Given the description of an element on the screen output the (x, y) to click on. 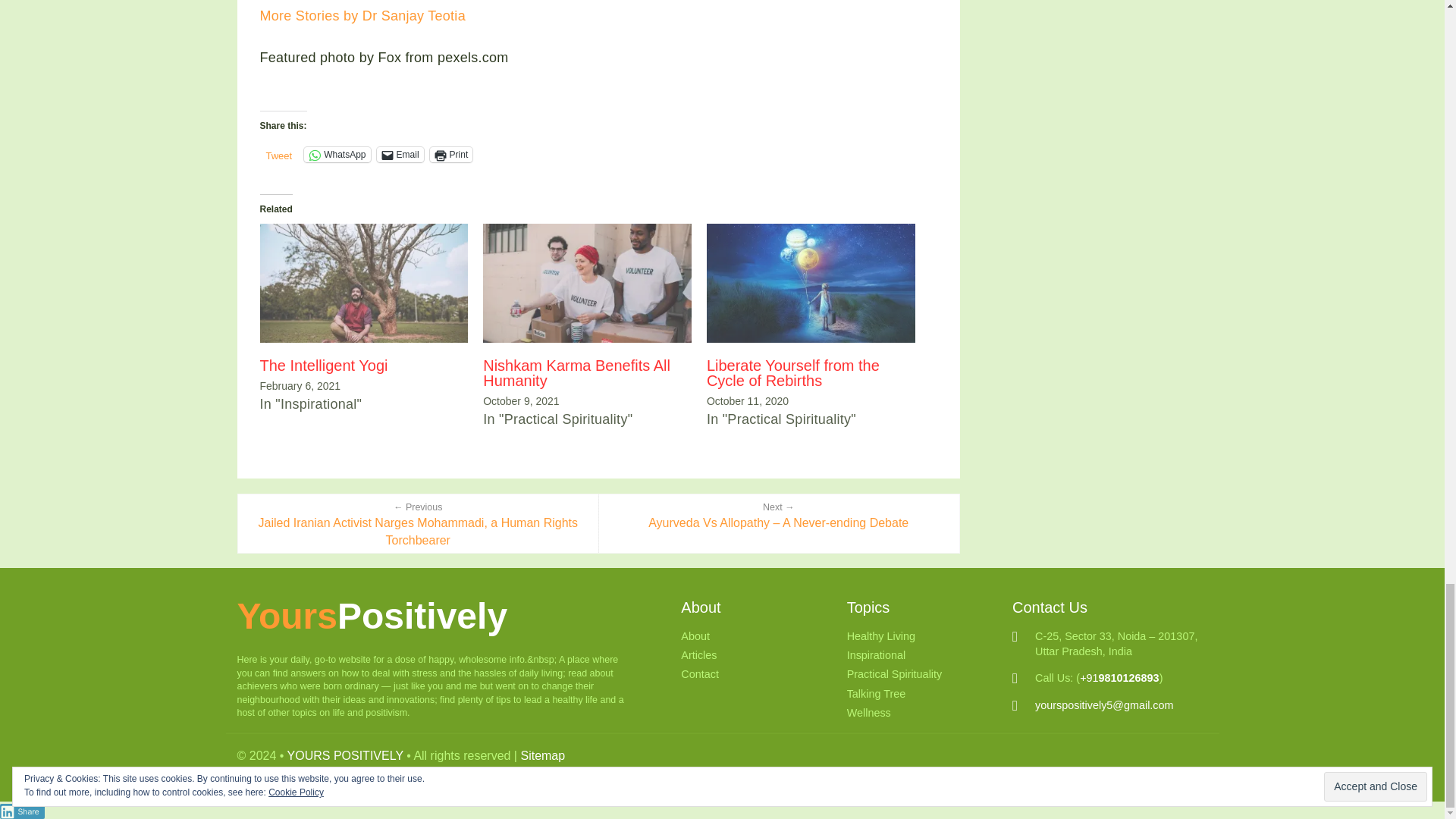
Print (451, 154)
Email (400, 154)
Nishkam Karma Benefits All Humanity (587, 283)
Liberate Yourself from the Cycle of Rebirths (810, 283)
The Intelligent Yogi (363, 283)
Liberate Yourself from the Cycle of Rebirths (792, 373)
Click to print (451, 154)
Tweet (278, 153)
More Stories by Dr Sanjay Teotia (361, 15)
Nishkam Karma Benefits All Humanity (576, 373)
The Intelligent Yogi (323, 365)
Nishkam Karma Benefits All Humanity (576, 373)
Click to email a link to a friend (400, 154)
Liberate Yourself from the Cycle of Rebirths (792, 373)
Click to share on WhatsApp (336, 154)
